Given the description of an element on the screen output the (x, y) to click on. 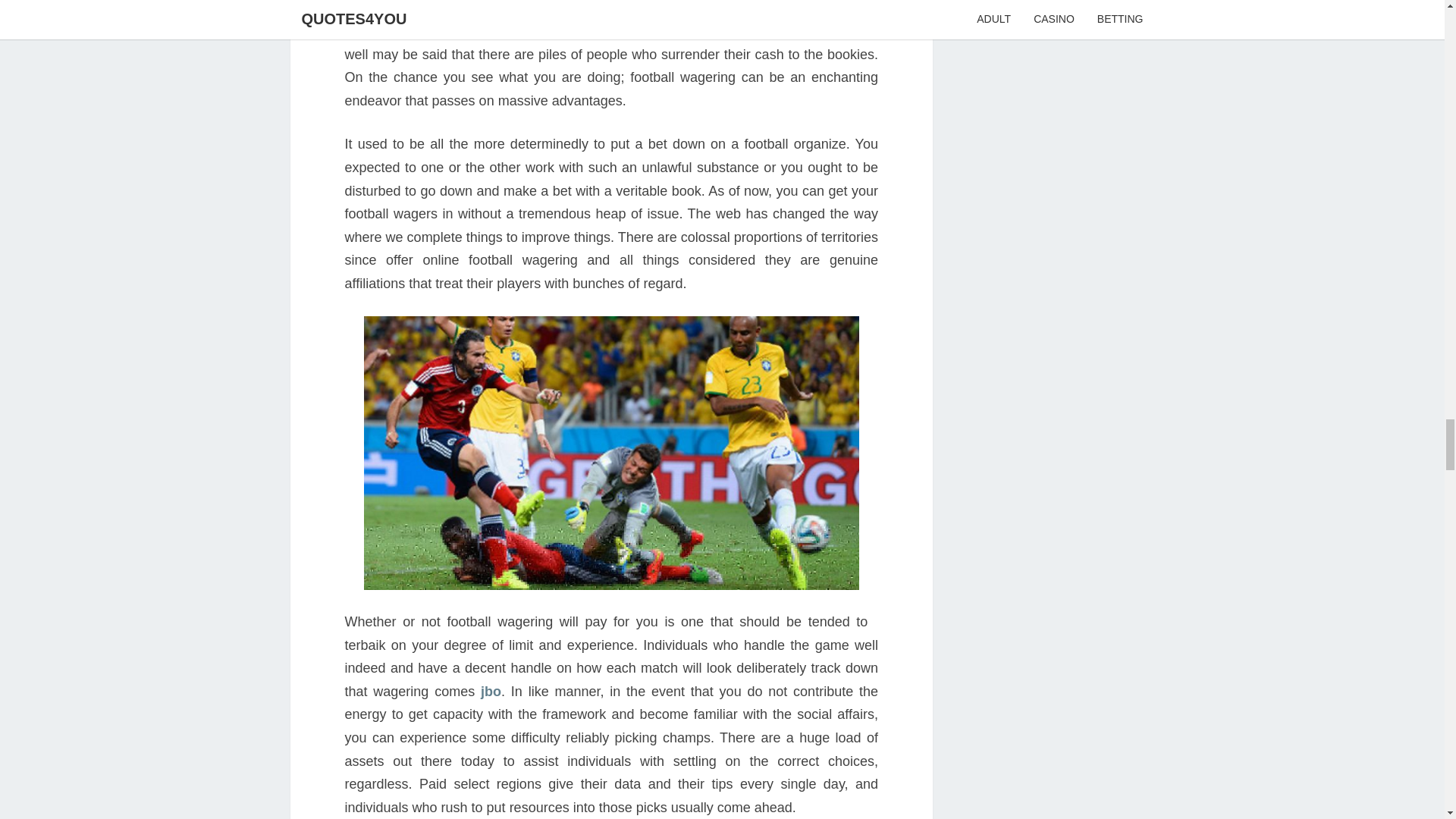
jbo (490, 691)
